Given the description of an element on the screen output the (x, y) to click on. 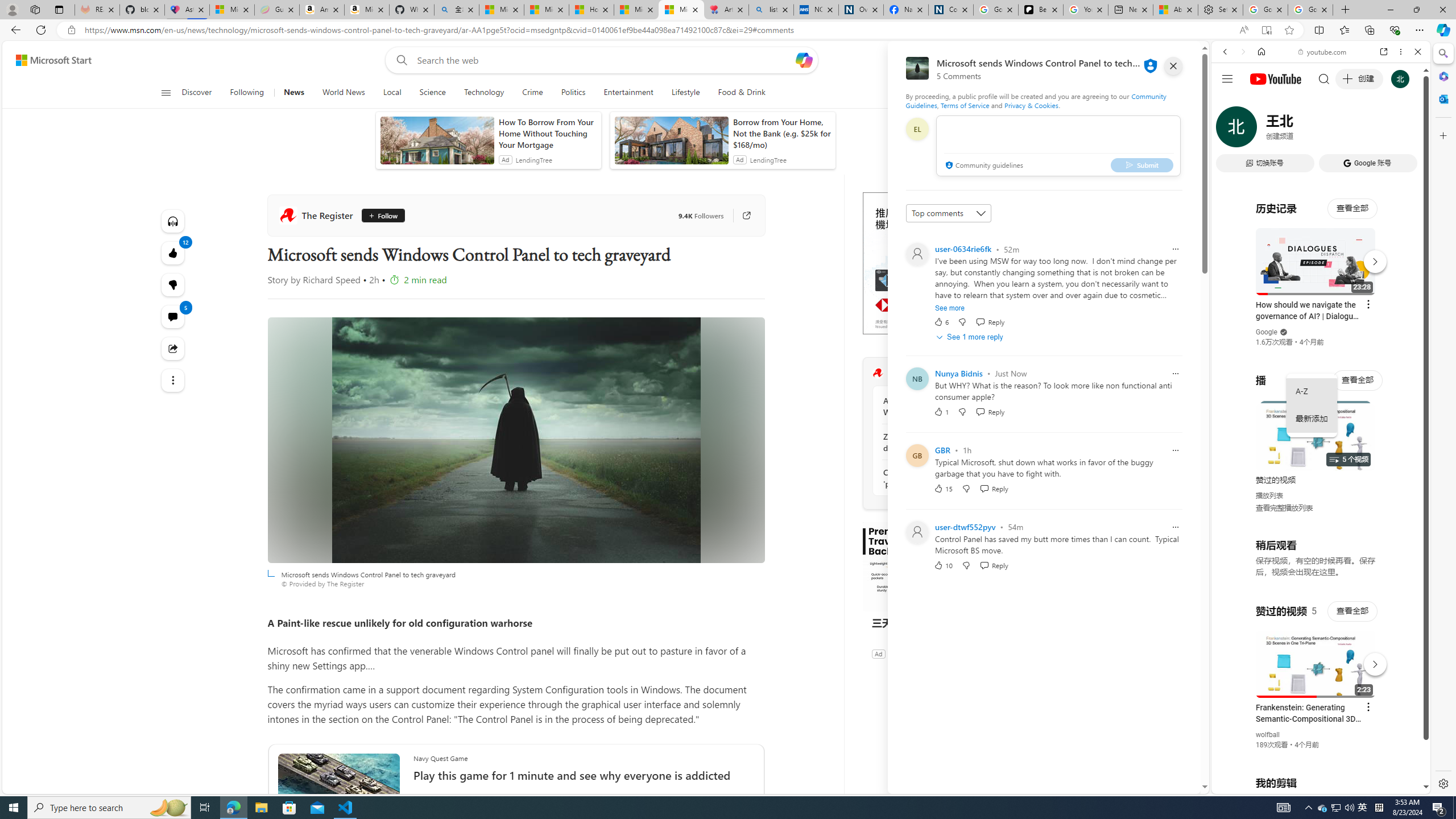
SEARCH TOOLS (1350, 130)
Food & Drink (741, 92)
Local (392, 92)
Actions for this site (1371, 661)
Community guidelines (983, 165)
Technology (483, 92)
